Given the description of an element on the screen output the (x, y) to click on. 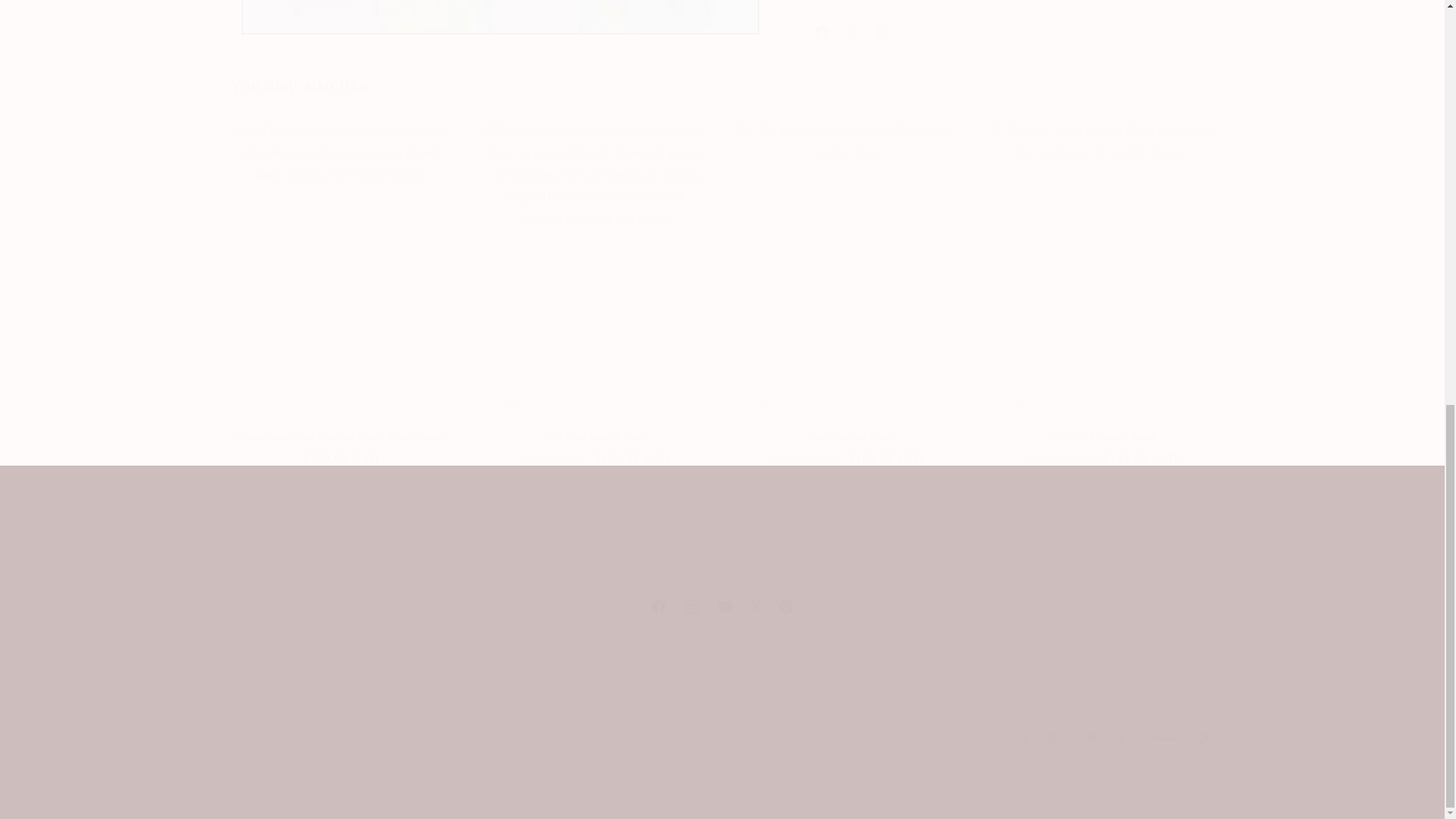
0 (721, 537)
